Given the description of an element on the screen output the (x, y) to click on. 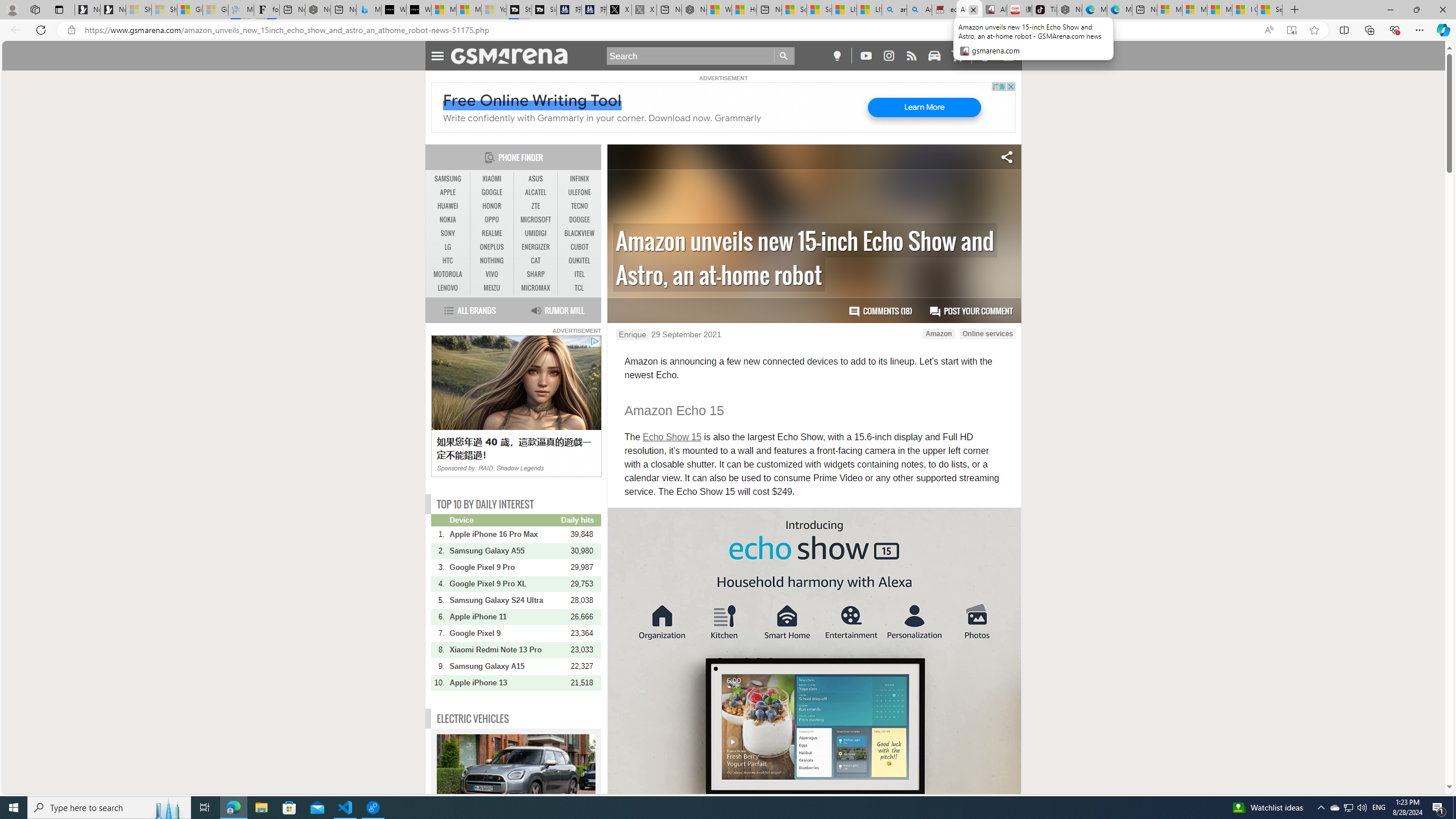
ALCATEL (535, 192)
BLACKVIEW (579, 233)
MICROMAX (535, 287)
NOKIA (448, 219)
TikTok (1043, 9)
